Given the description of an element on the screen output the (x, y) to click on. 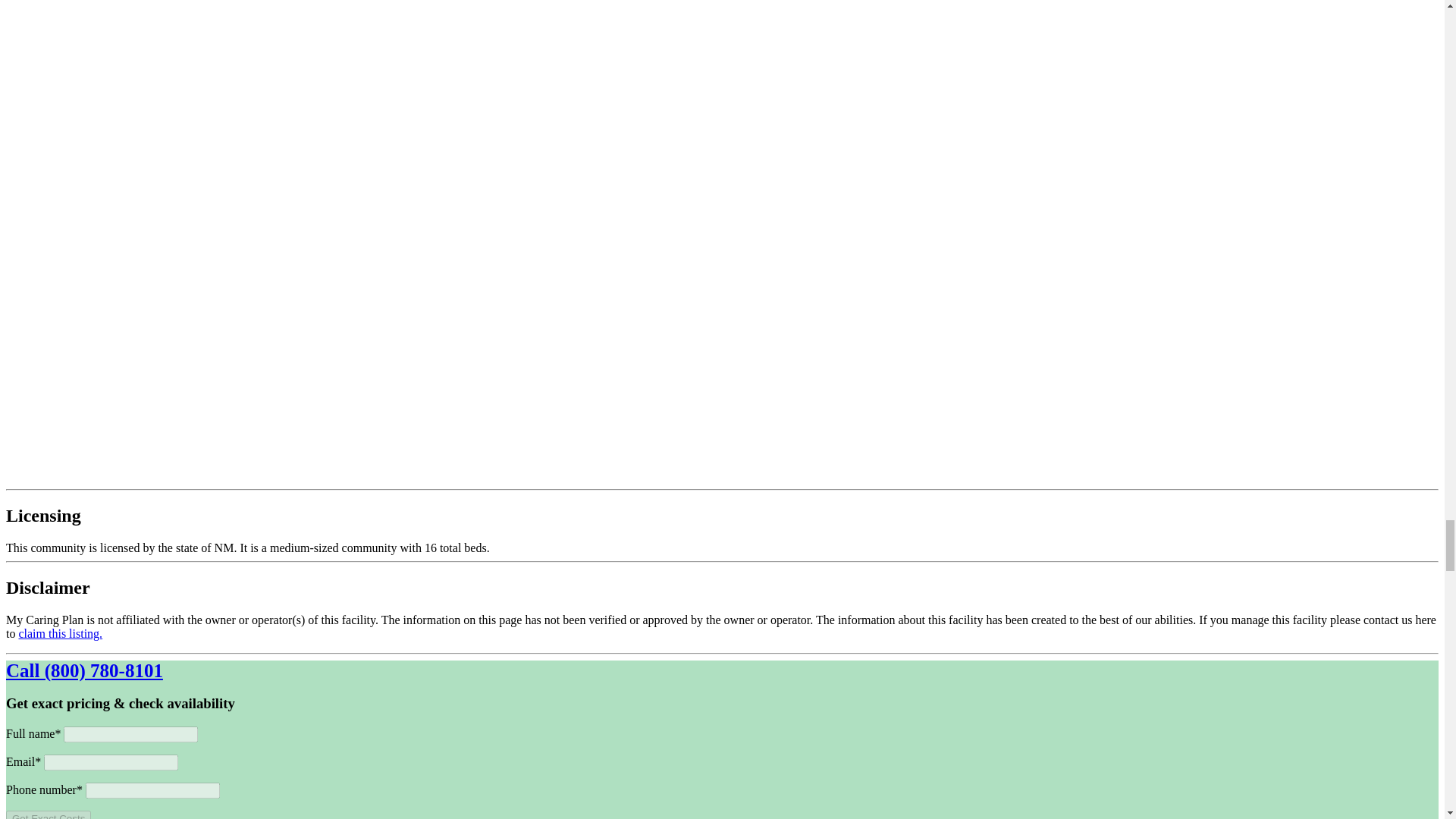
Get Exact Costs (47, 814)
